Given the description of an element on the screen output the (x, y) to click on. 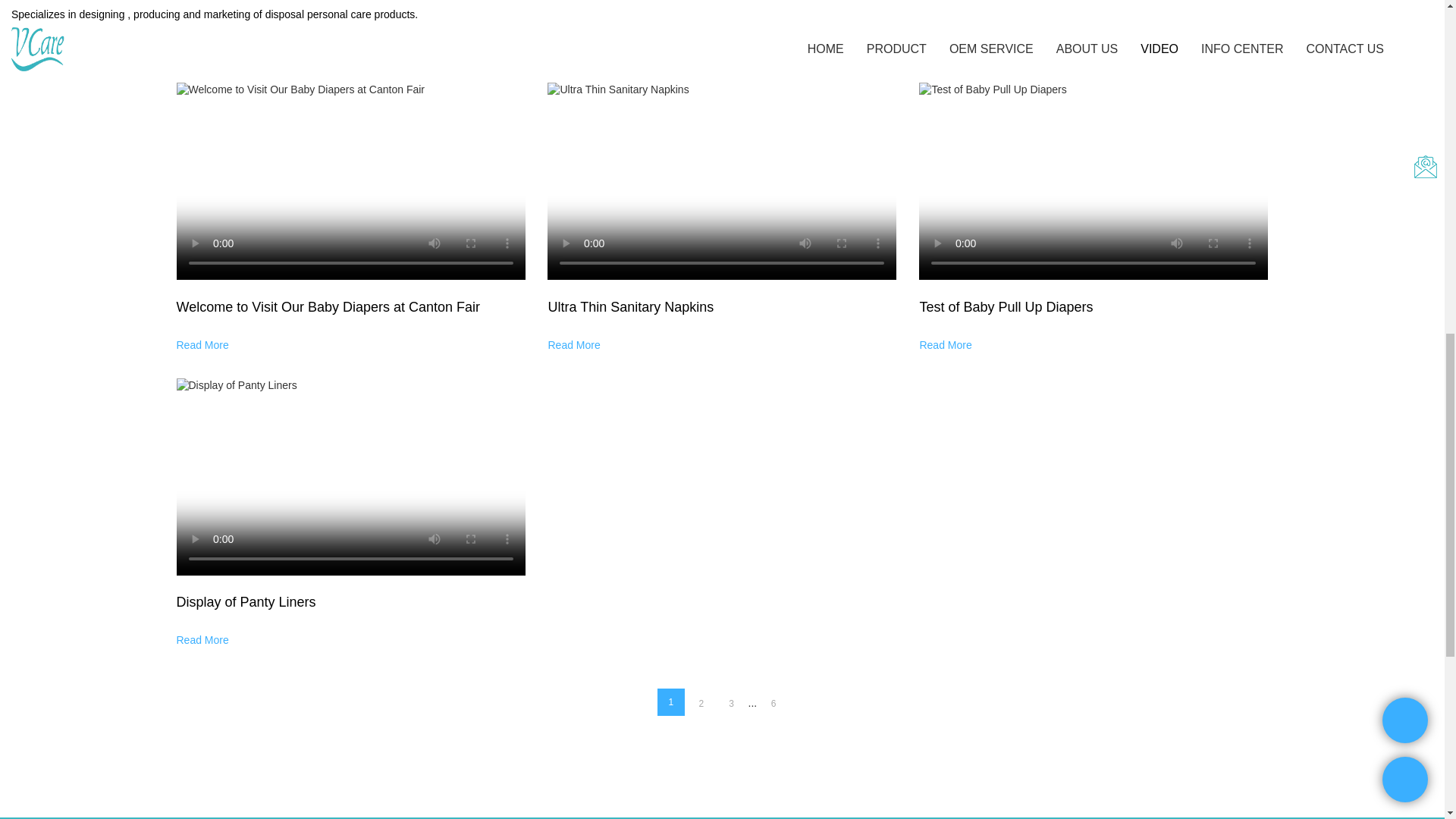
Read More (202, 49)
2 (700, 703)
1 (671, 701)
Read More (944, 344)
6 (773, 703)
Read More (202, 344)
Read More (202, 639)
3 (731, 703)
Read More (573, 344)
Read More (573, 29)
Read More (944, 29)
